Given the description of an element on the screen output the (x, y) to click on. 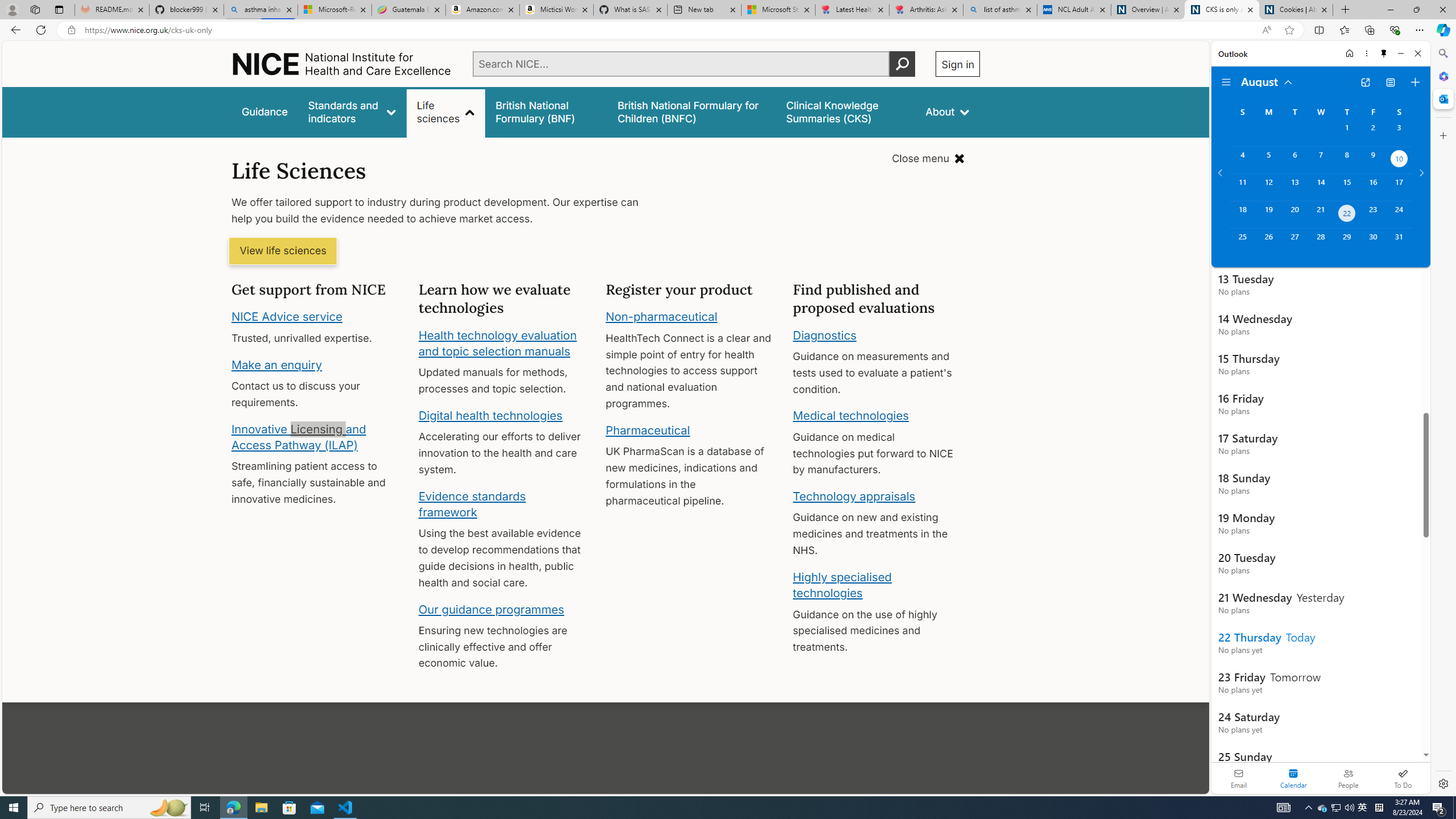
Diagnostics (824, 334)
View life sciences (282, 251)
Wednesday, August 28, 2024.  (1320, 241)
Sunday, August 11, 2024.  (1242, 186)
About (947, 111)
August (1267, 80)
Saturday, August 24, 2024.  (1399, 214)
asthma inhaler - Search (260, 9)
New tab (703, 9)
list of asthma inhalers uk - Search (1000, 9)
